Given the description of an element on the screen output the (x, y) to click on. 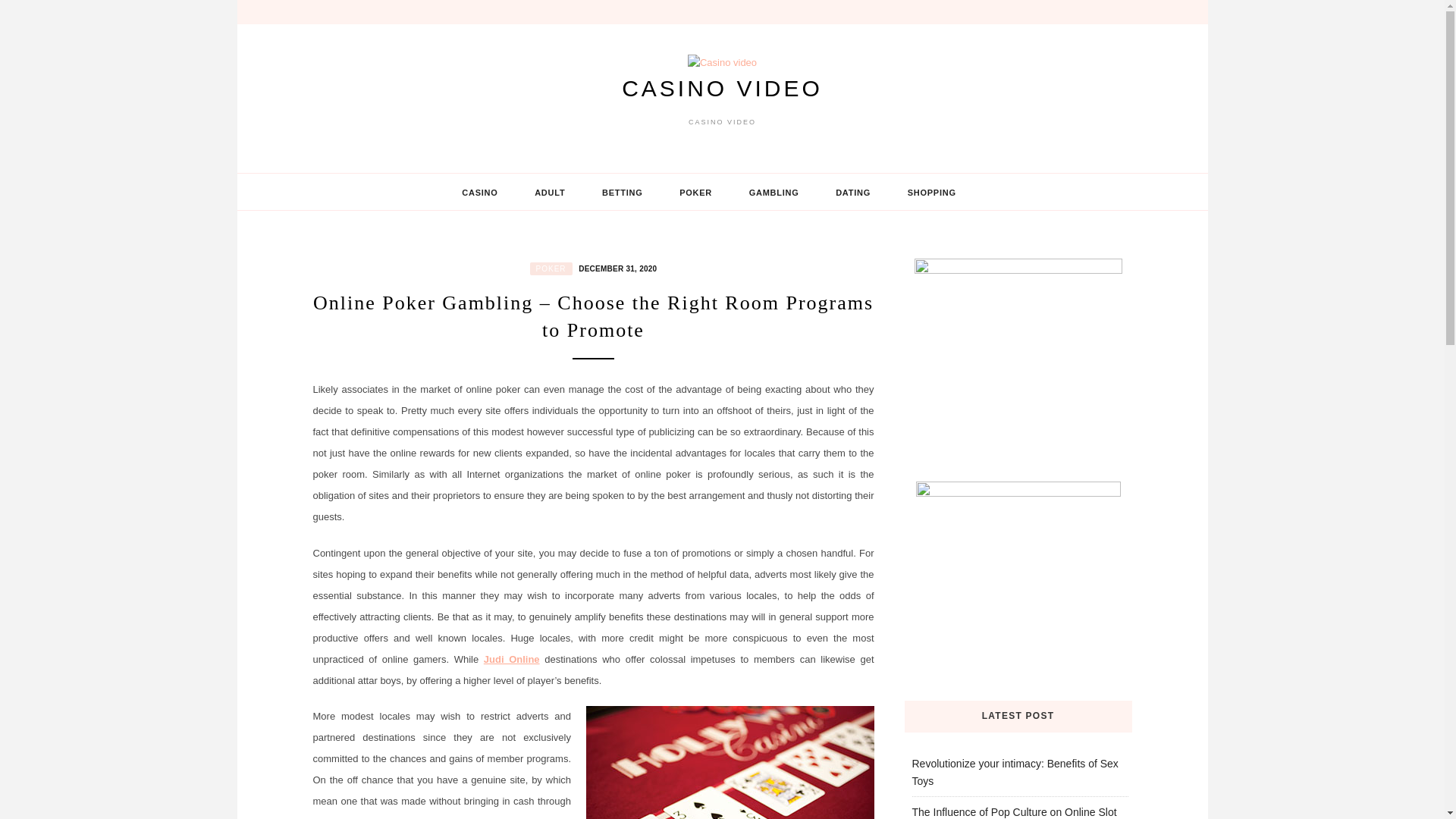
DATING (853, 192)
GAMBLING (774, 192)
CASINO VIDEO (721, 88)
POKER (550, 268)
DECEMBER 31, 2020 (615, 267)
Judi Online (511, 659)
CASINO (479, 192)
ADULT (550, 192)
SHOPPING (931, 192)
POKER (695, 192)
